Given the description of an element on the screen output the (x, y) to click on. 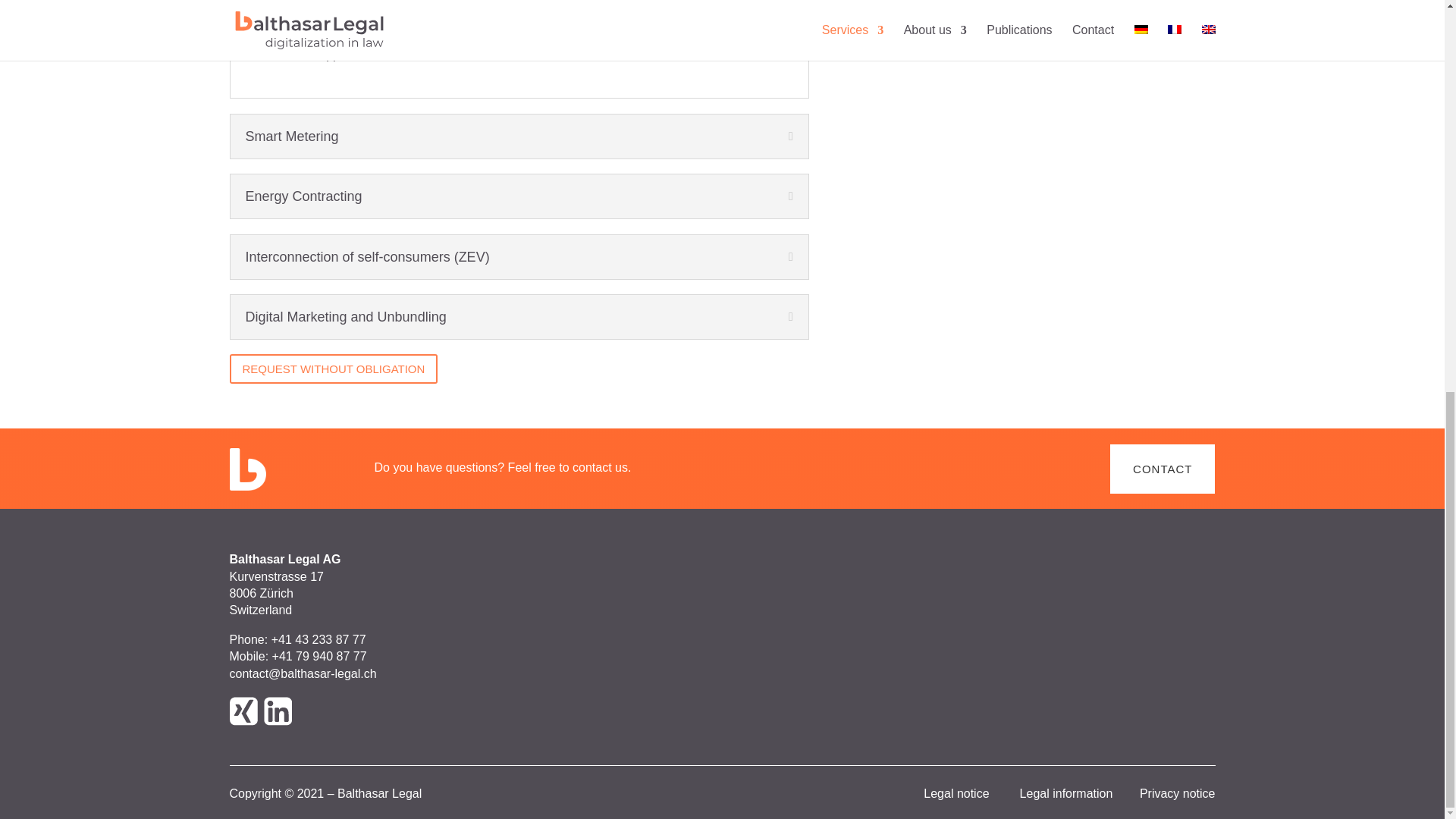
CONTACT (1161, 468)
REQUEST WITHOUT OBLIGATION (333, 368)
